Given the description of an element on the screen output the (x, y) to click on. 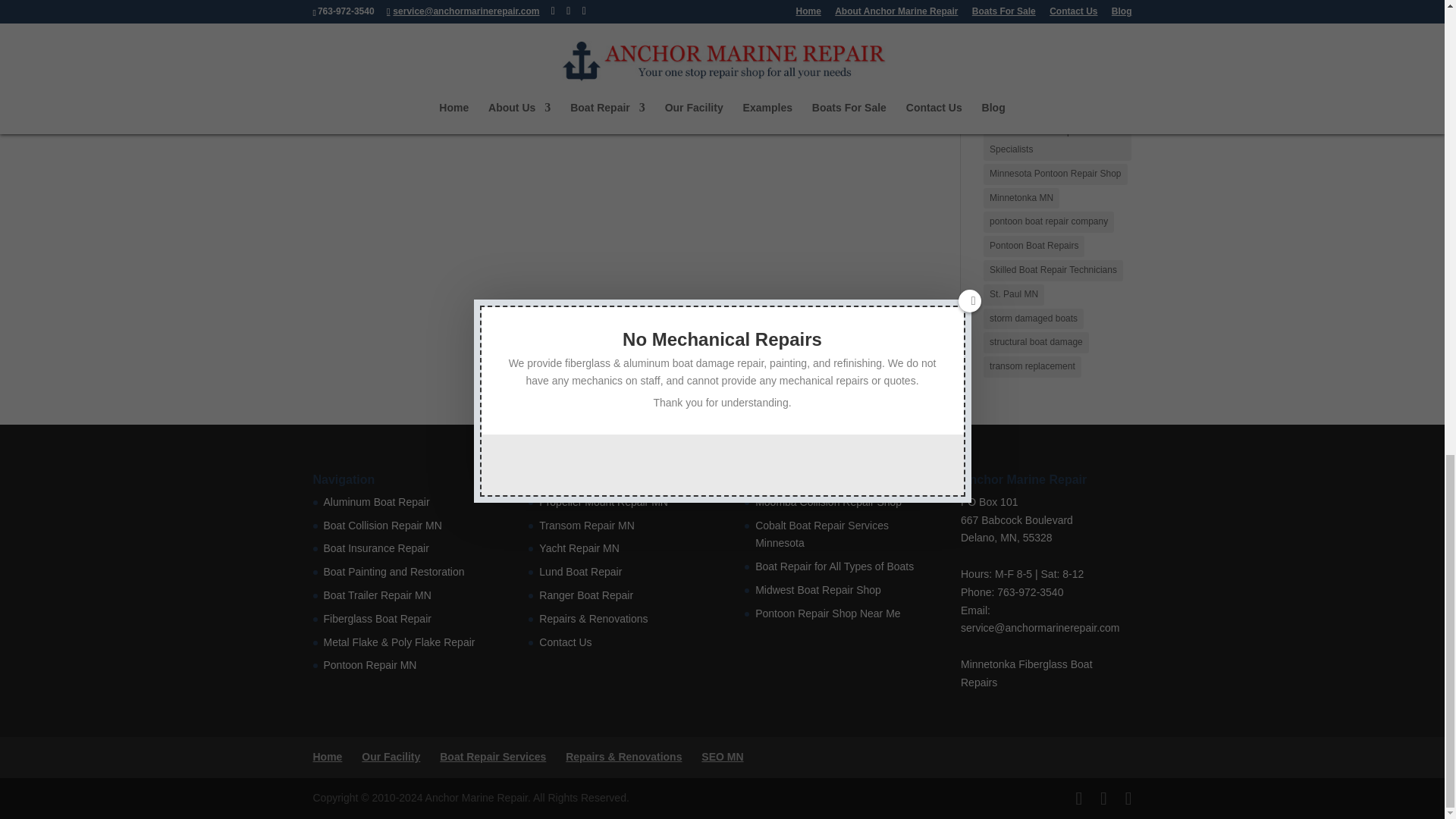
Minnesota Search Engine Optimization Services (721, 756)
